Given the description of an element on the screen output the (x, y) to click on. 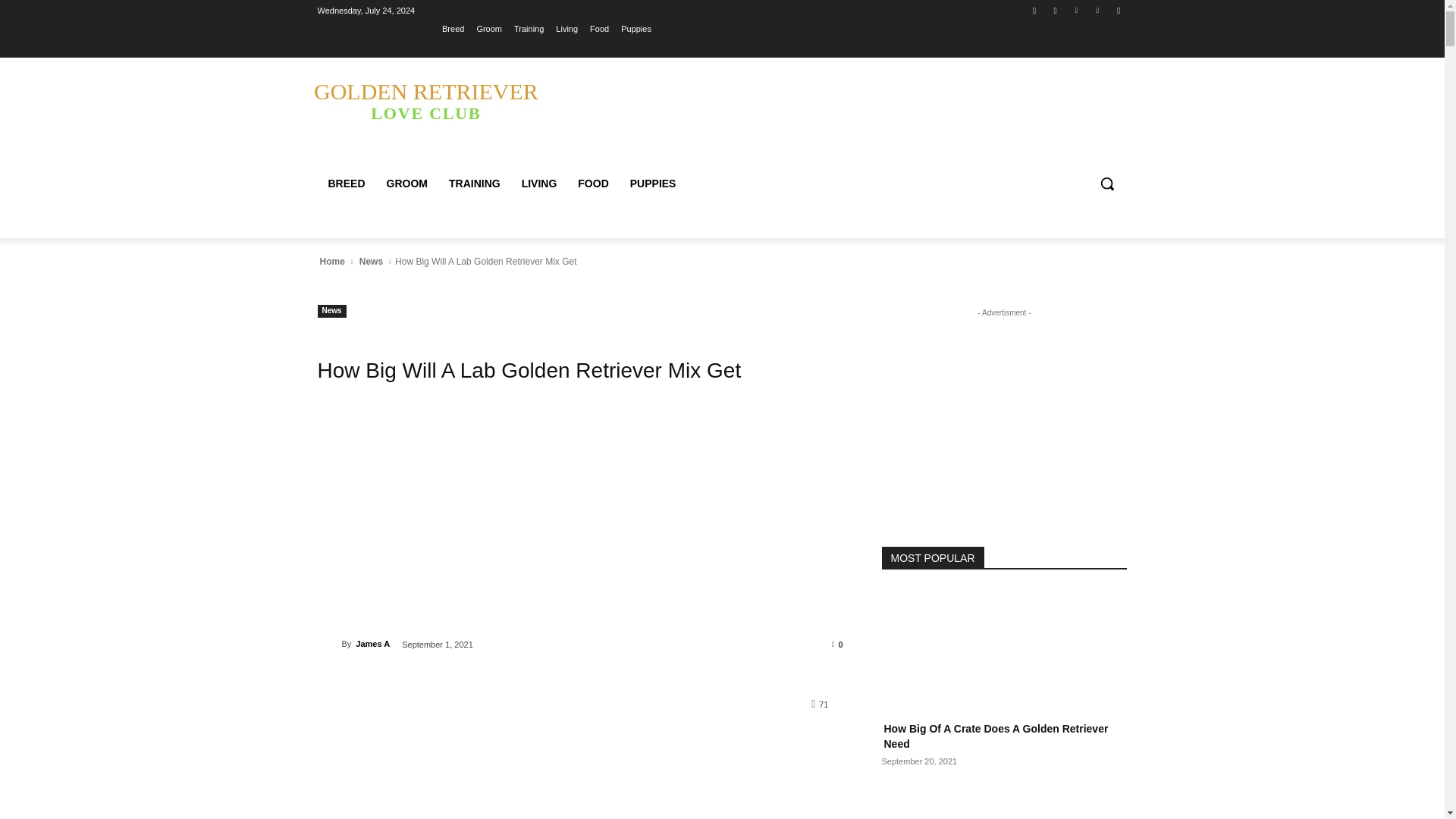
Puppies (635, 28)
James A (328, 643)
News (331, 310)
View all posts in News (370, 261)
Facebook (1034, 9)
Home (331, 261)
Food (598, 28)
PUPPIES (653, 183)
Breed (453, 28)
Training (528, 28)
Vimeo (1097, 9)
Groom (489, 28)
Youtube (1117, 9)
Advertisement (580, 526)
BREED (346, 183)
